Given the description of an element on the screen output the (x, y) to click on. 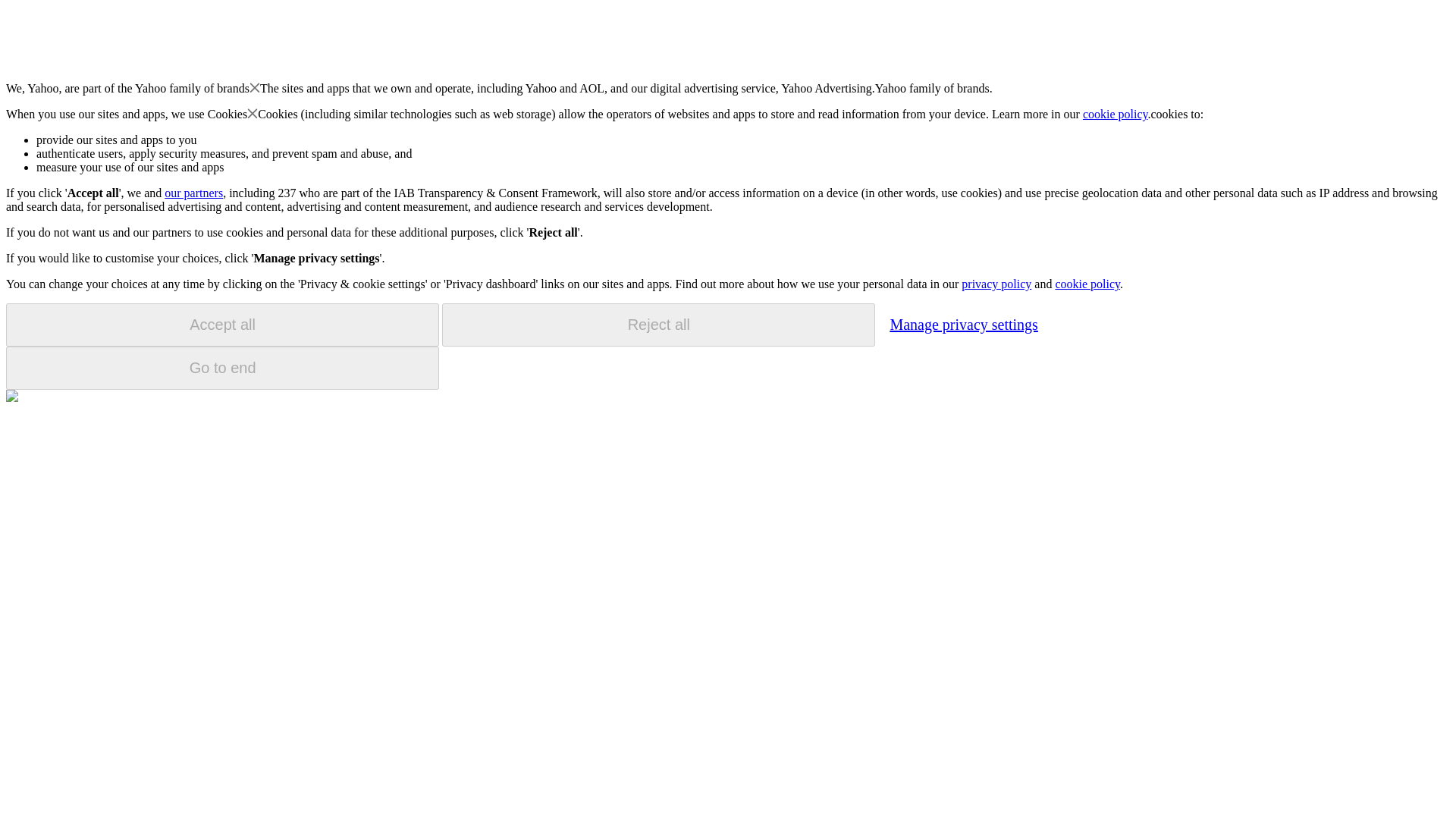
privacy policy (995, 283)
cookie policy (1086, 283)
Accept all (222, 324)
Manage privacy settings (963, 323)
Reject all (658, 324)
cookie policy (1115, 113)
Go to end (222, 367)
our partners (193, 192)
